Given the description of an element on the screen output the (x, y) to click on. 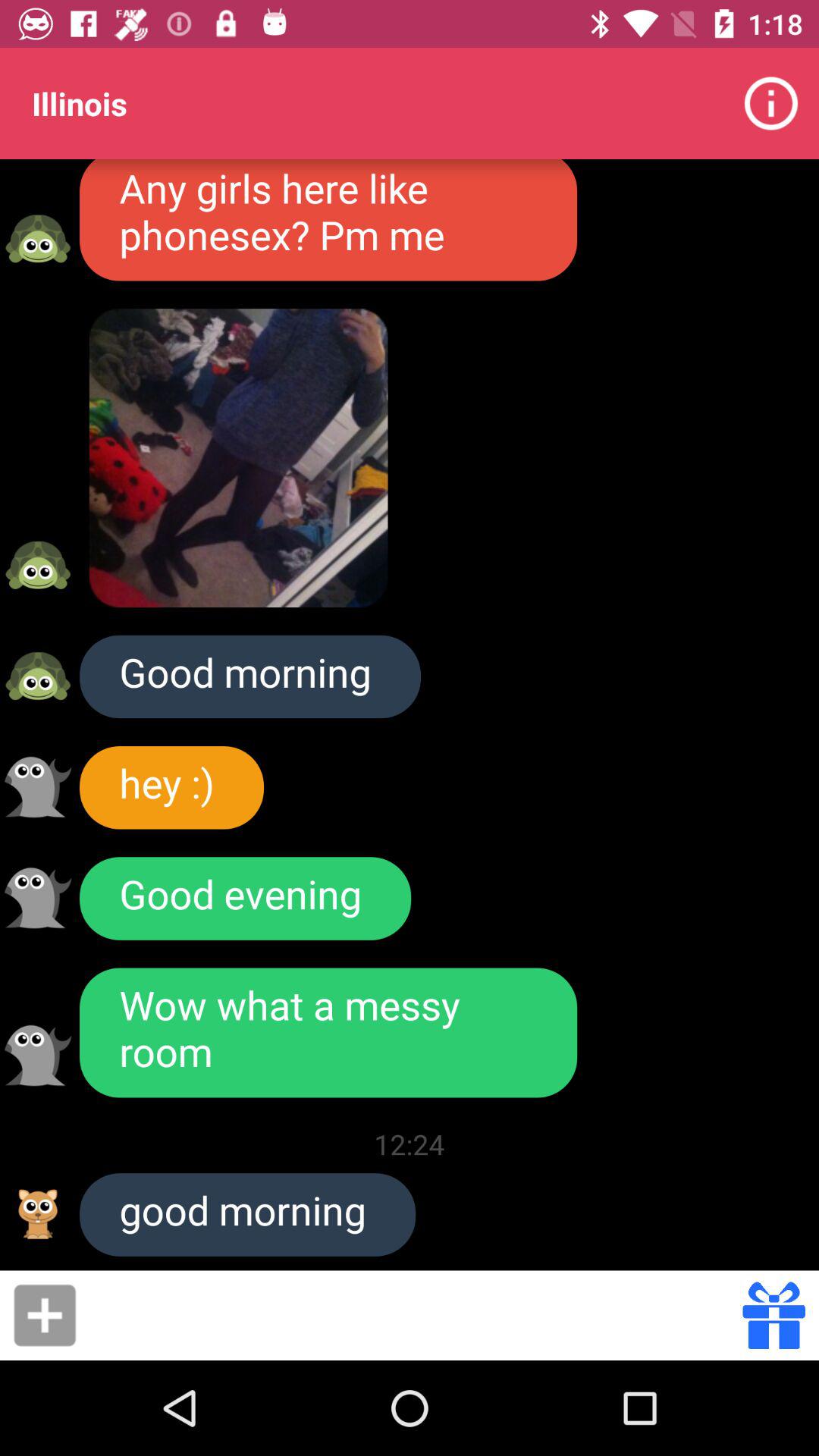
click to send gift (774, 1315)
